Given the description of an element on the screen output the (x, y) to click on. 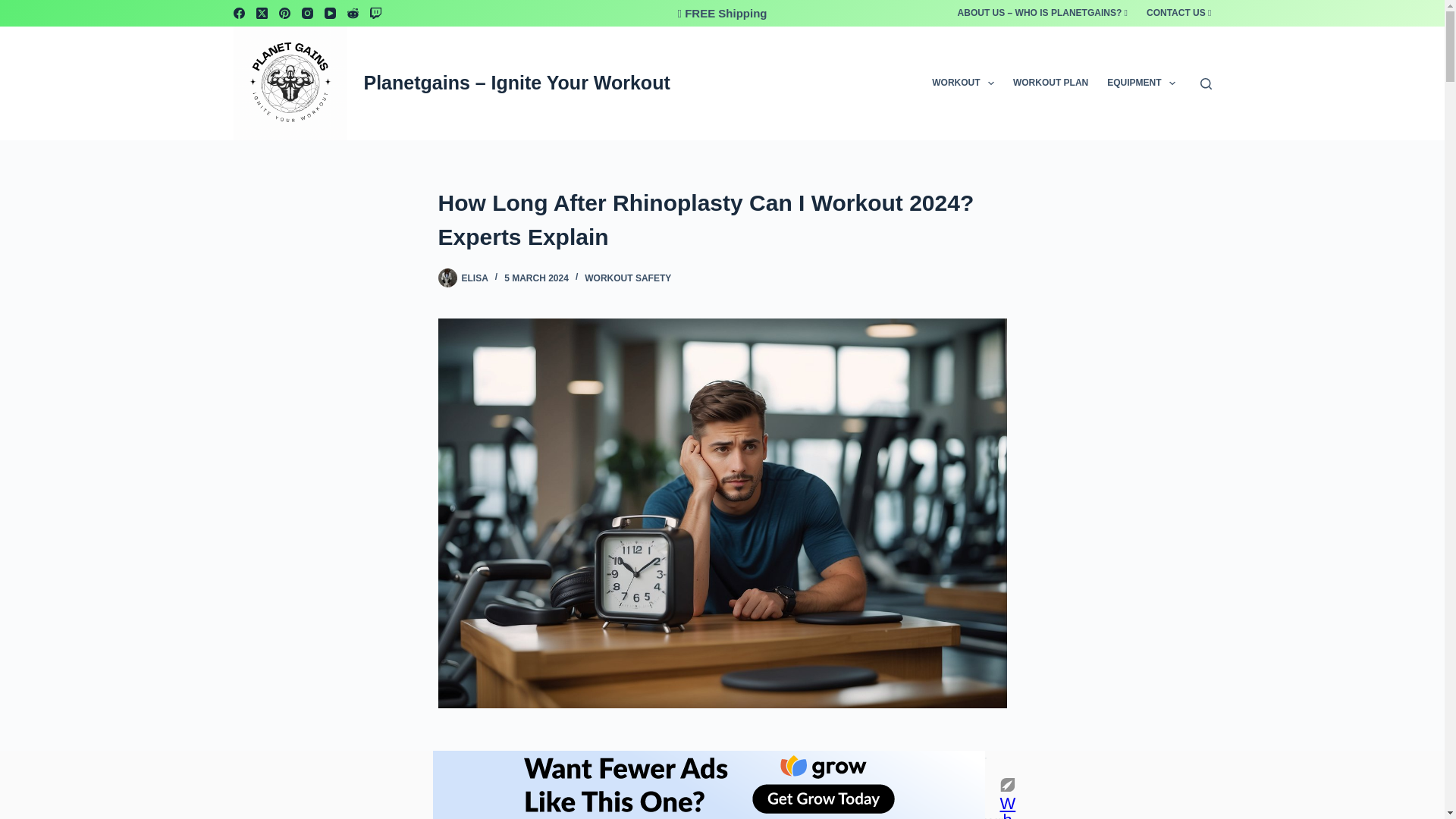
Posts by Elisa (474, 277)
Skip to content (15, 7)
